Given the description of an element on the screen output the (x, y) to click on. 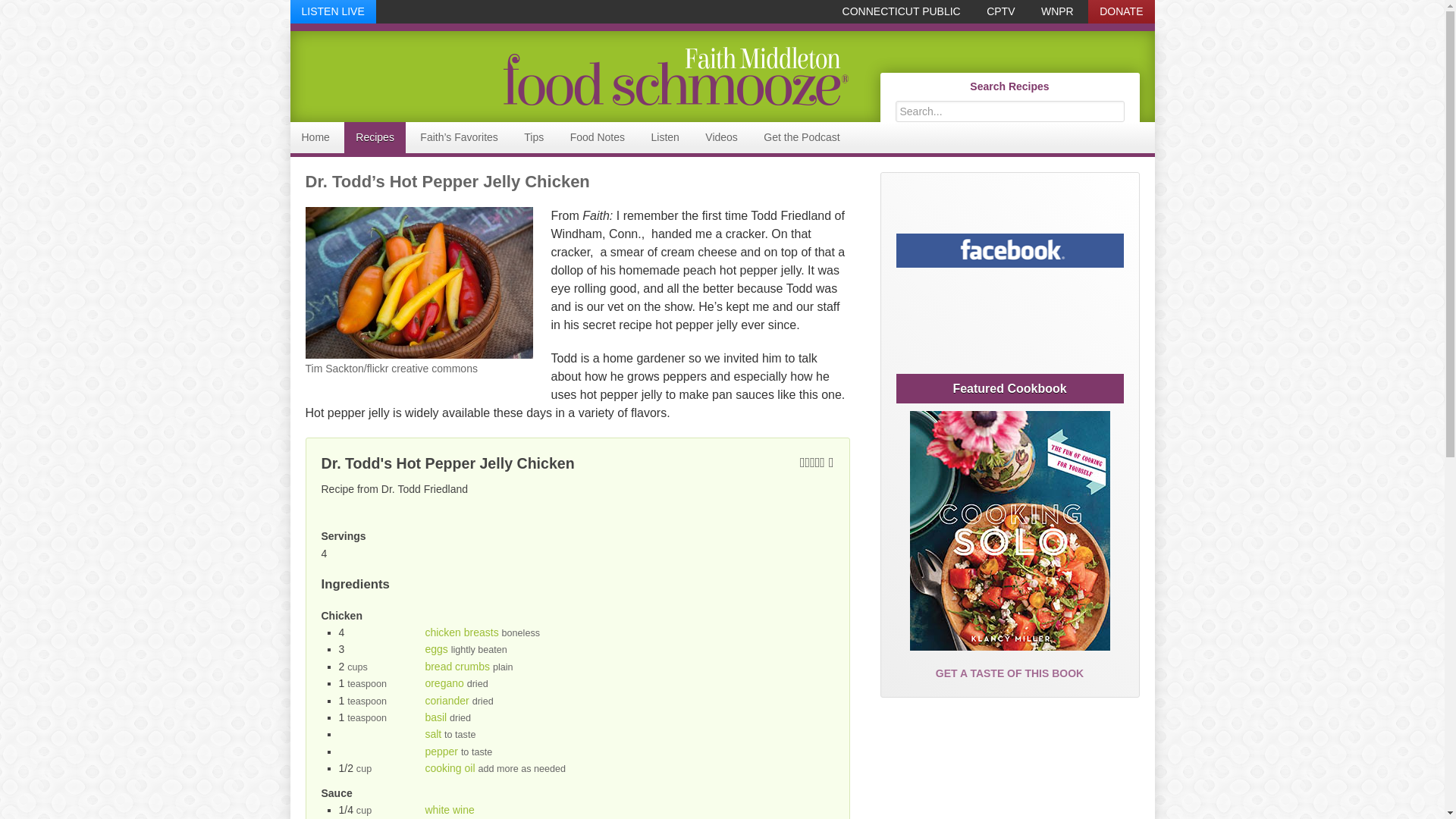
Get the Podcast (801, 137)
Search (1127, 103)
Faith Middleton's Food Schmooze (675, 75)
WNPR (1056, 11)
CONNECTICUT PUBLIC (901, 11)
Tips (533, 137)
Search (1127, 103)
Videos (721, 137)
Listen (664, 137)
